Given the description of an element on the screen output the (x, y) to click on. 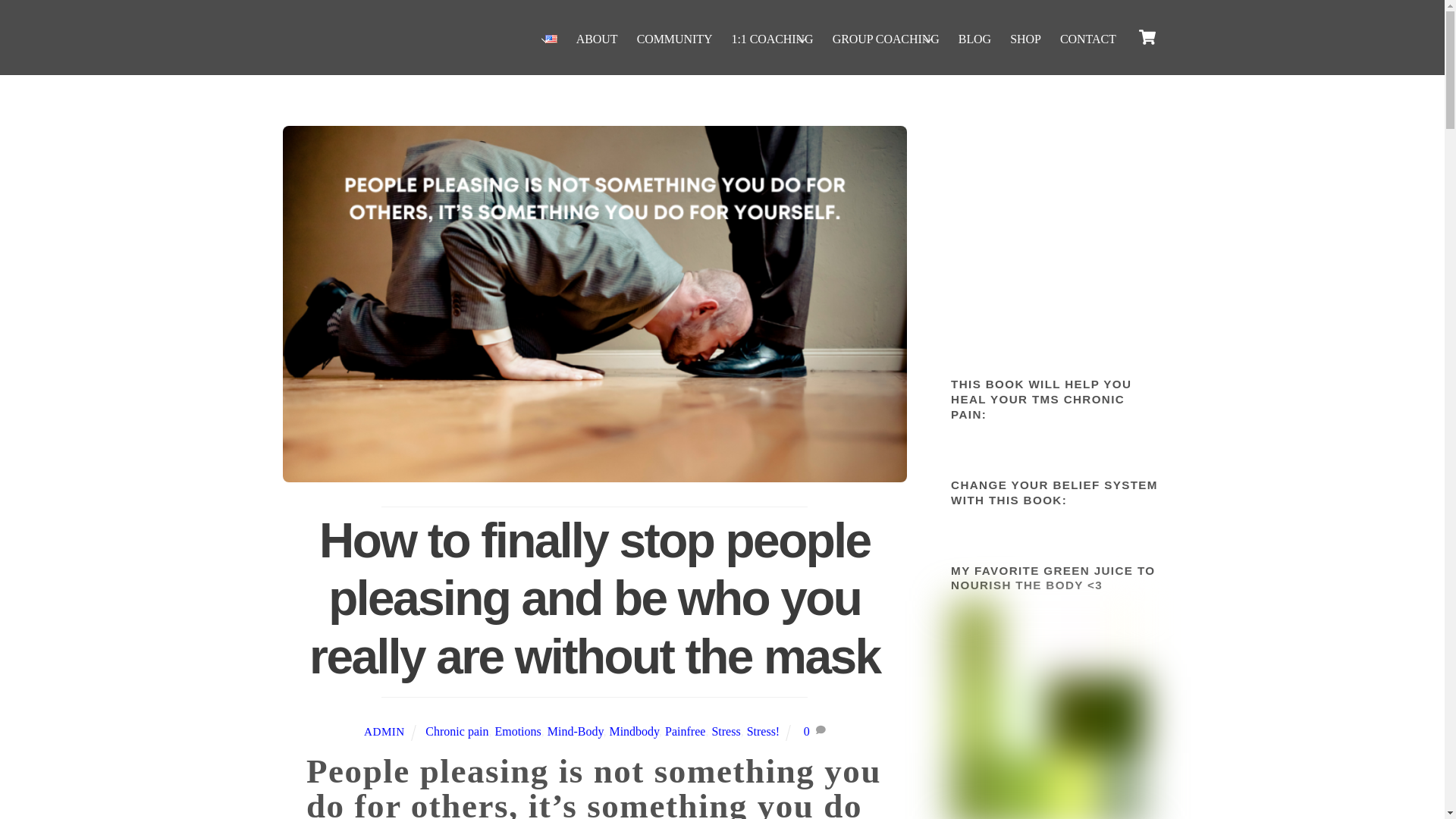
Mind-Body (575, 730)
Cart (1146, 37)
GROUP COACHING (885, 39)
1:1 COACHING (771, 39)
Emotions (517, 730)
COMMUNITY (673, 39)
Stress (725, 730)
CONTACT (1087, 39)
Painfree (684, 730)
